Given the description of an element on the screen output the (x, y) to click on. 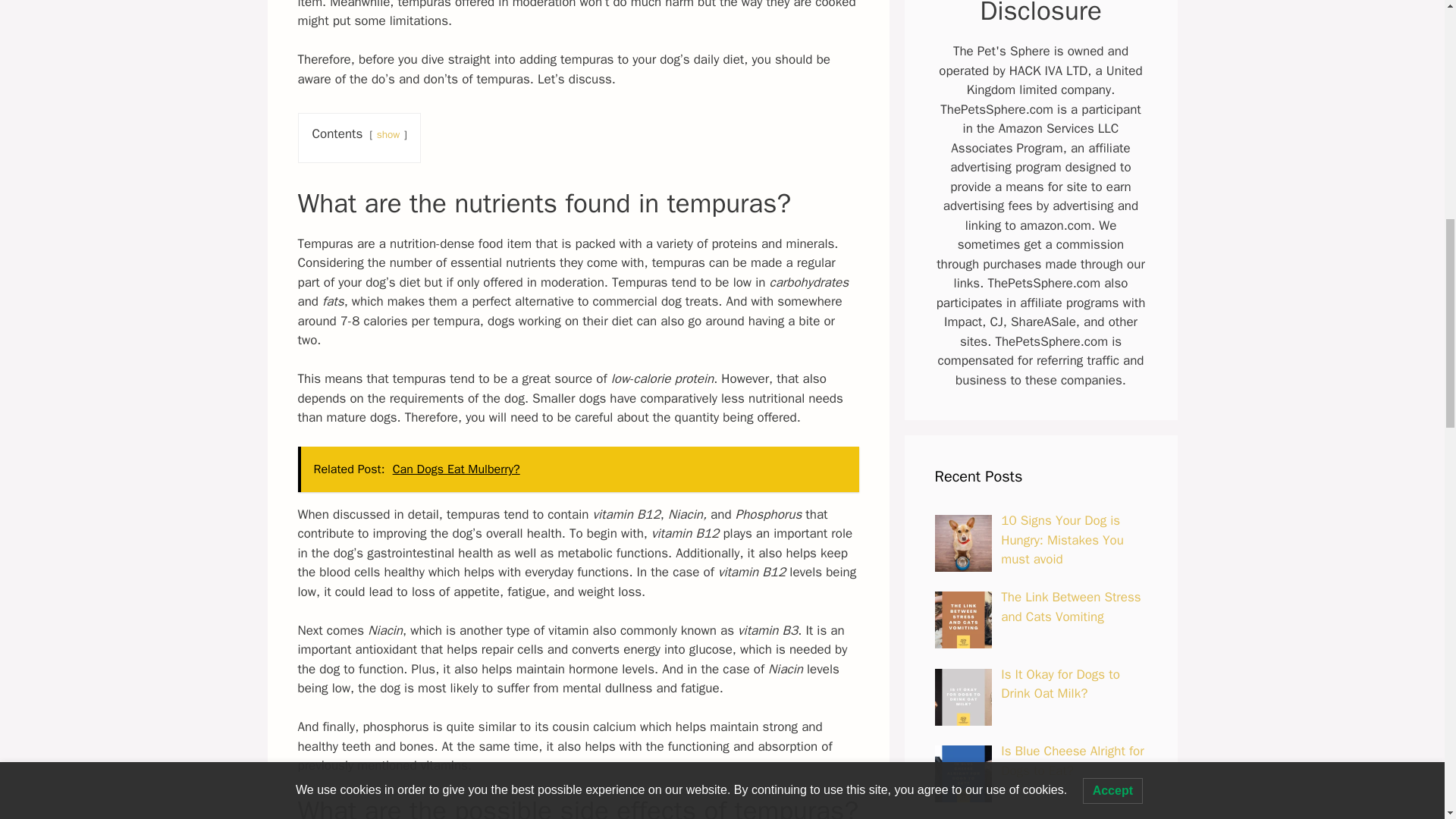
show (388, 133)
